Given the description of an element on the screen output the (x, y) to click on. 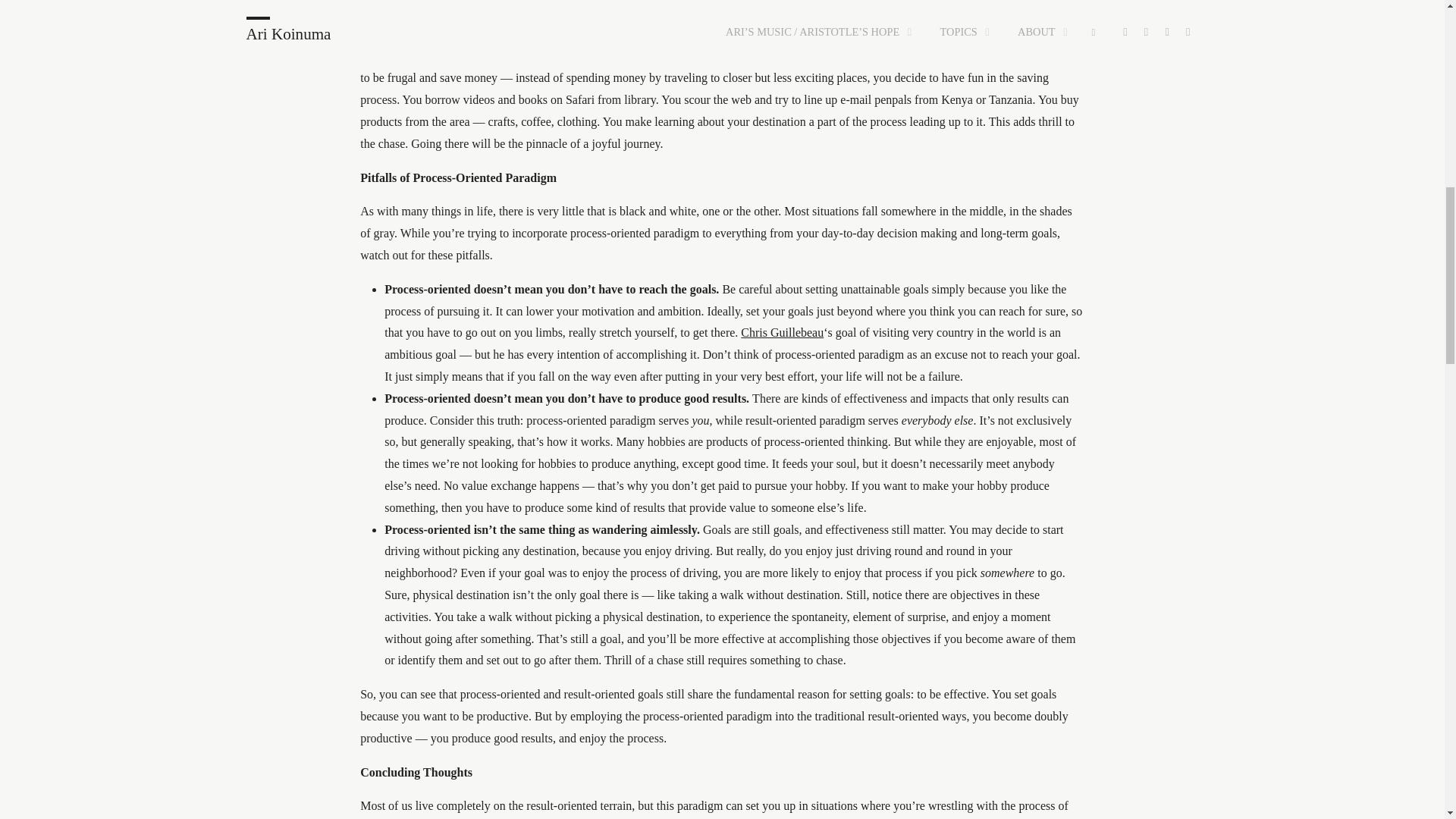
Chris Guillebeau (782, 332)
The Art of Non-Conformity (782, 332)
Our Best Version (630, 33)
the previous installment (630, 33)
